Given the description of an element on the screen output the (x, y) to click on. 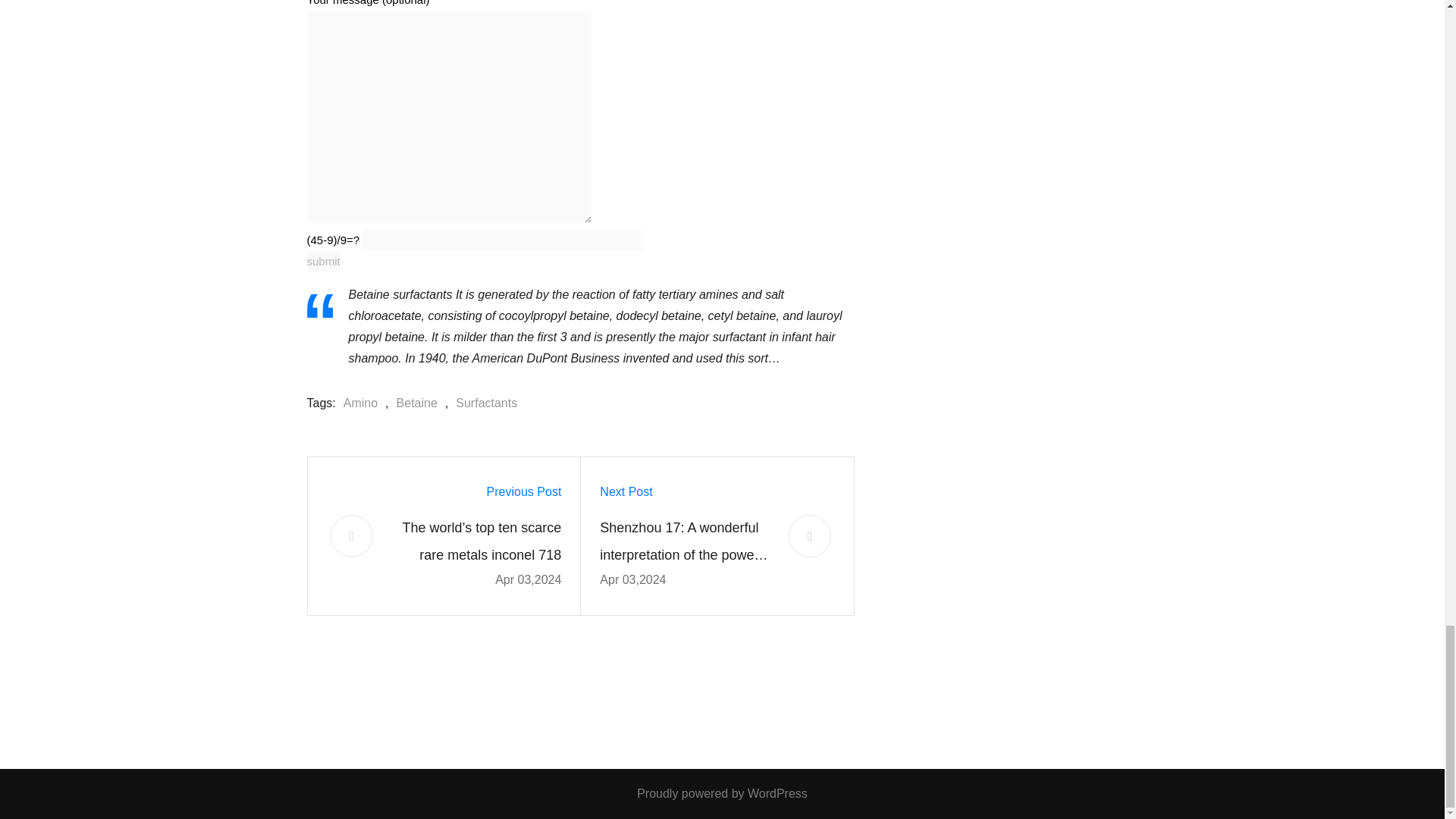
Betaine (413, 403)
submit (322, 260)
Amino (356, 403)
submit (322, 260)
Apr 03,2024 (527, 579)
Surfactants (482, 403)
Apr 03,2024 (632, 579)
